Given the description of an element on the screen output the (x, y) to click on. 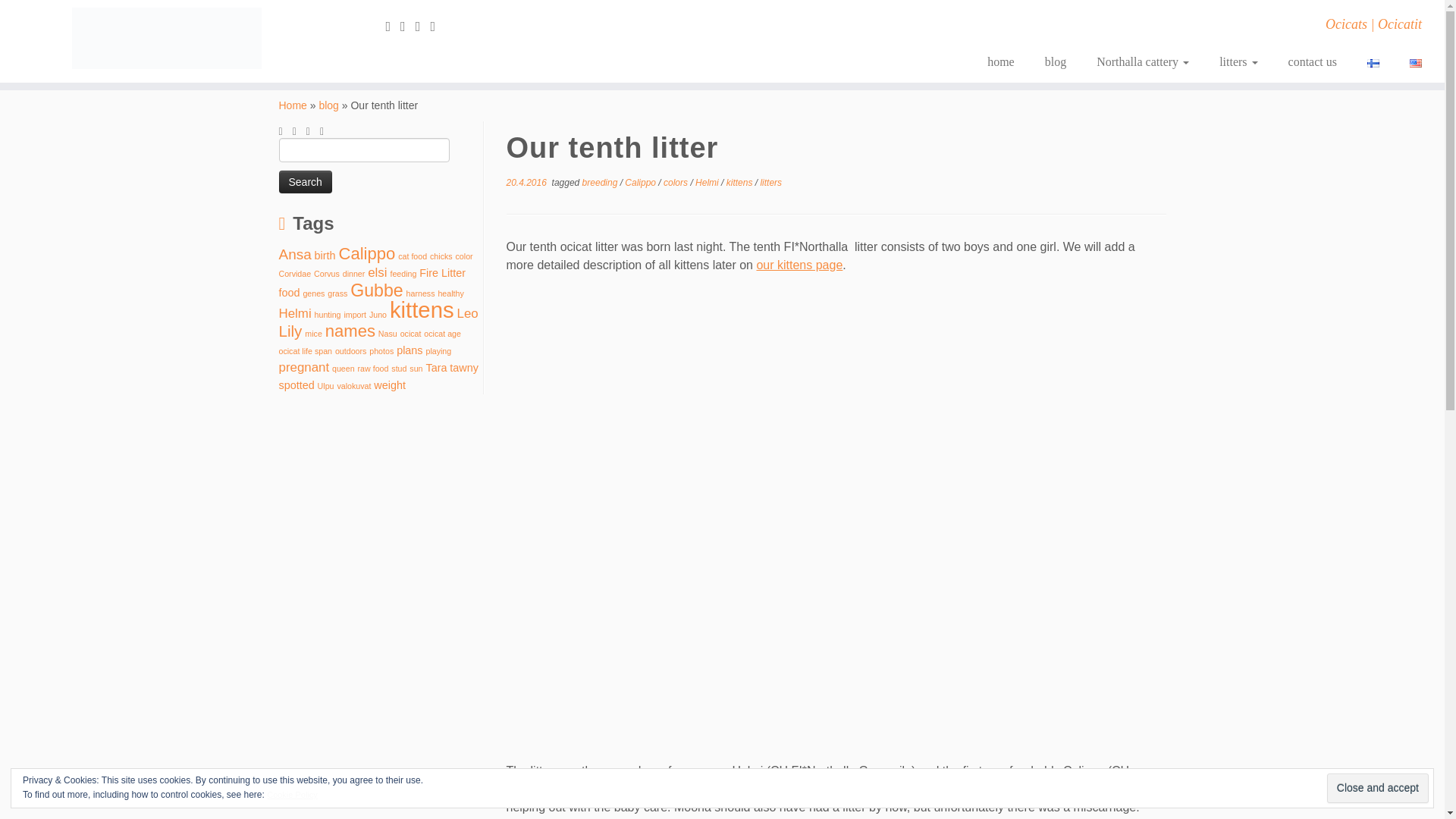
Northalla (293, 105)
Search (305, 181)
Home (293, 105)
Ansa (295, 254)
Follow us on Instagram (422, 26)
contact us (1312, 61)
Search (305, 181)
Follow us on Facebook-official (407, 26)
15:26 (526, 182)
Follow us on Youtube (437, 26)
